Given the description of an element on the screen output the (x, y) to click on. 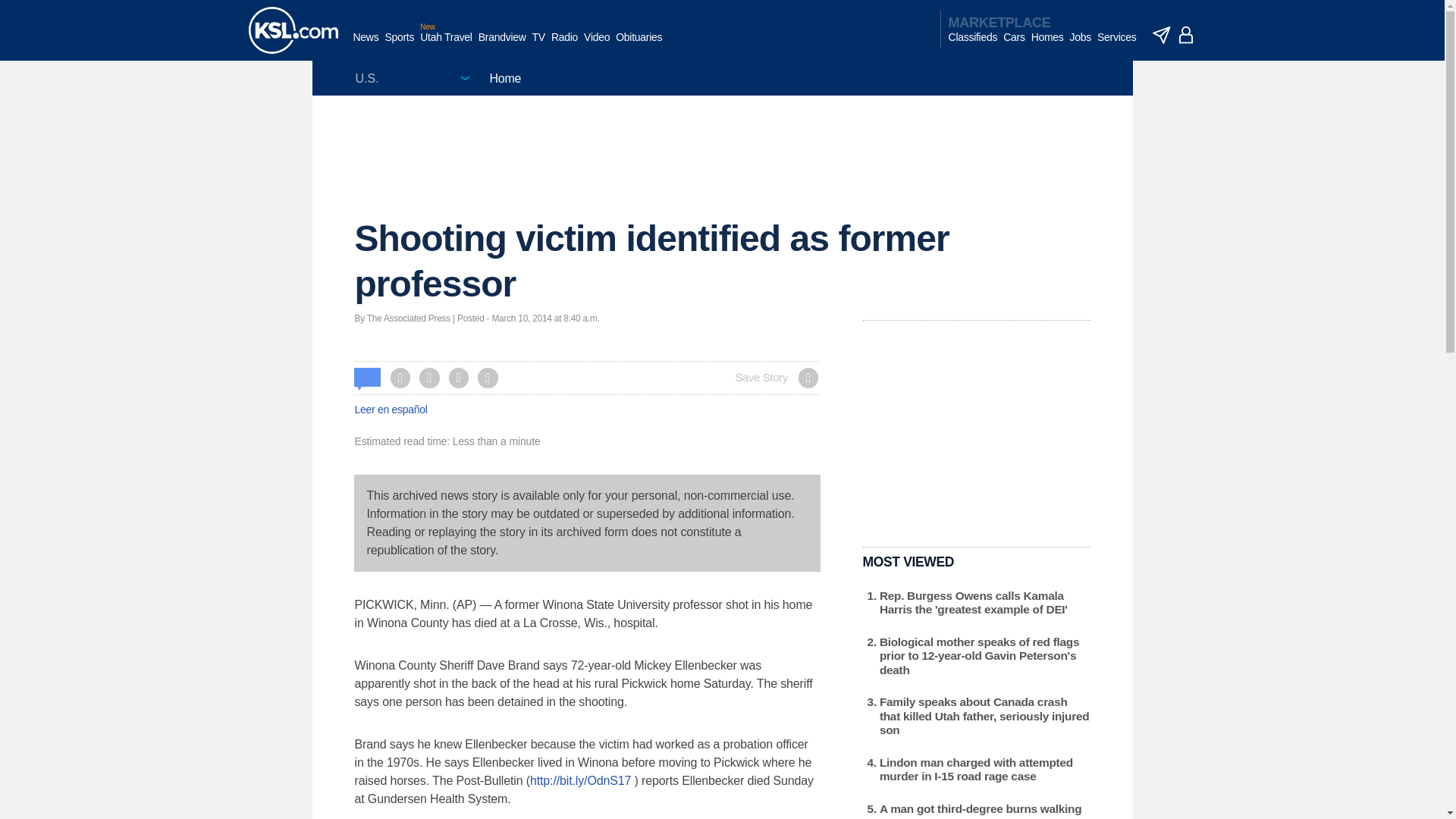
Sports (398, 45)
Brandview (502, 45)
account - logged out (1185, 34)
News (365, 45)
KSL homepage (292, 30)
KSL homepage (292, 29)
Utah Travel (445, 45)
TV (538, 45)
